Given the description of an element on the screen output the (x, y) to click on. 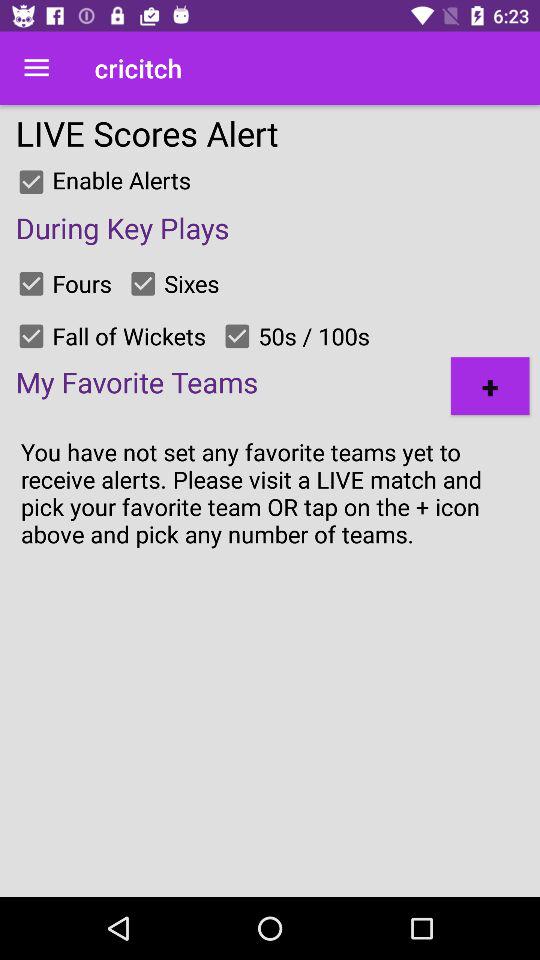
choose the icon next to 50s / 100s icon (489, 386)
